Given the description of an element on the screen output the (x, y) to click on. 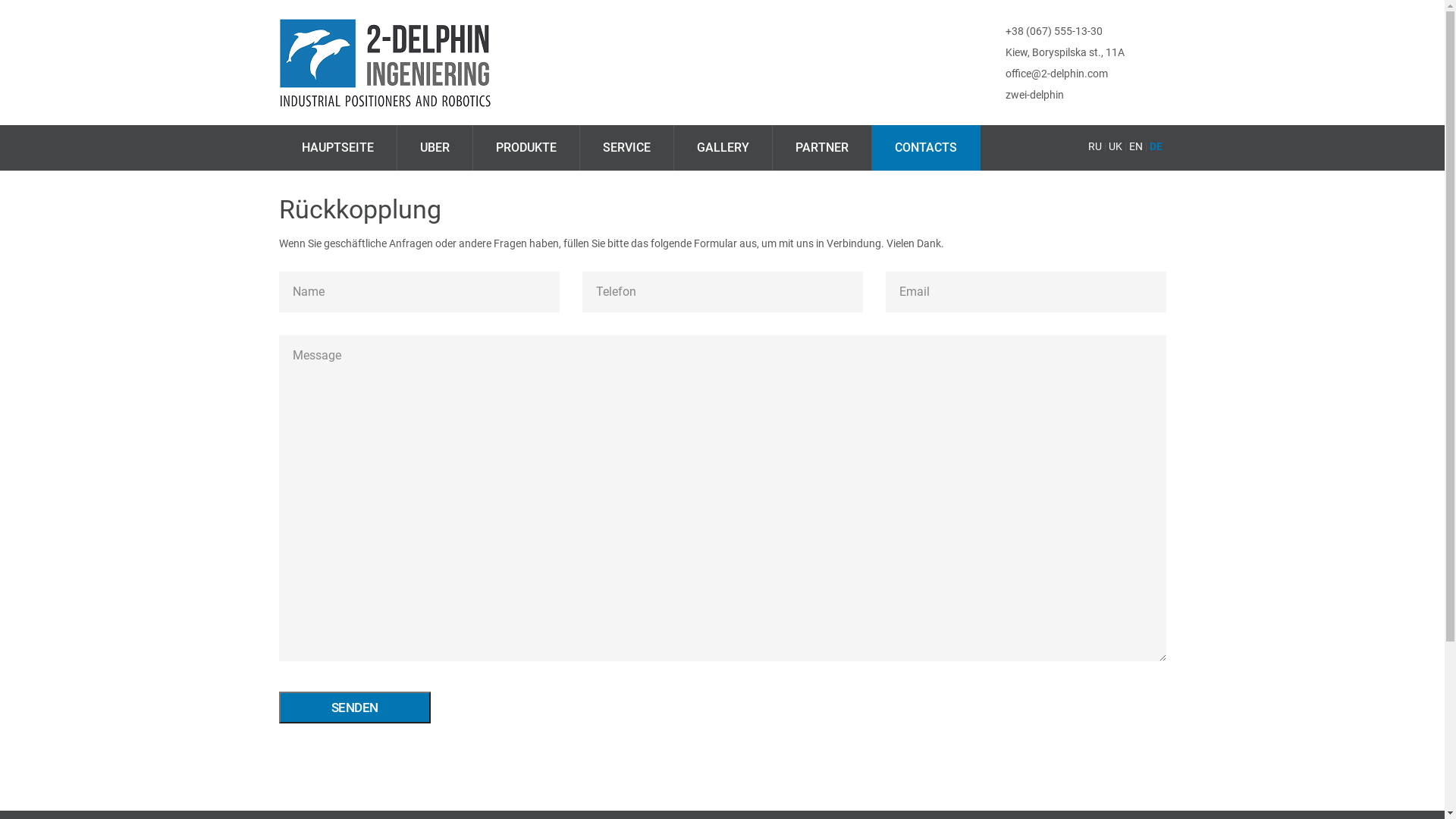
office@2-delphin.com Element type: text (1056, 73)
UK Element type: text (1115, 146)
HAUPTSEITE Element type: text (338, 147)
GALLERY Element type: text (722, 147)
PRODUKTE Element type: text (526, 147)
SERVICE Element type: text (626, 147)
UBER Element type: text (435, 147)
zwei-delphin Element type: text (1034, 95)
Senden Element type: text (354, 707)
PARTNER Element type: text (821, 147)
EN Element type: text (1135, 146)
RU Element type: text (1094, 146)
CONTACTS Element type: text (926, 147)
